Given the description of an element on the screen output the (x, y) to click on. 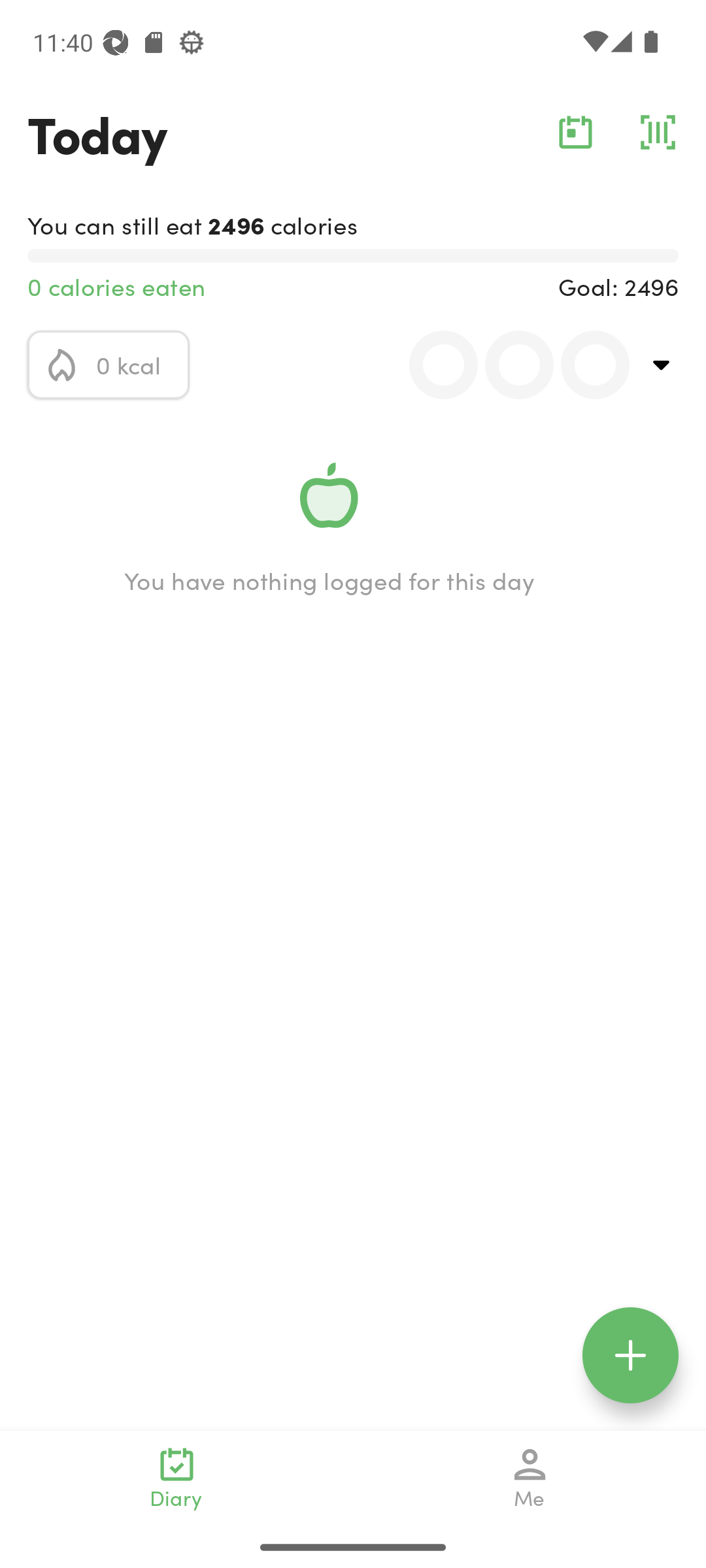
calendar_action (575, 132)
barcode_action (658, 132)
calorie_icon 0 kcal (108, 365)
0.0 0.0 0.0 (508, 365)
top_right_action (661, 365)
floating_action_icon (630, 1355)
Me navigation_icon (529, 1478)
